Given the description of an element on the screen output the (x, y) to click on. 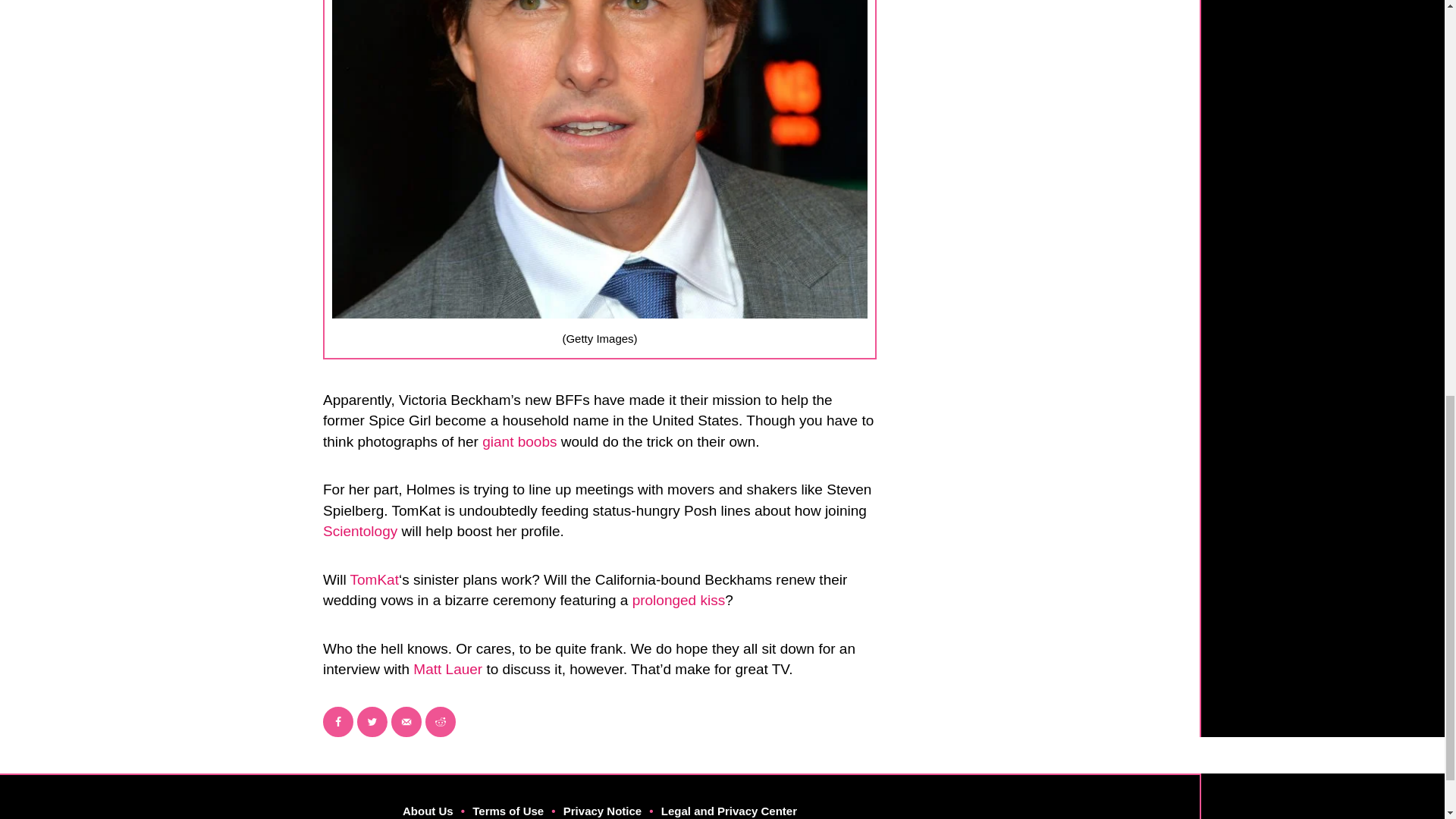
Share on Reddit (440, 721)
Share on Twitter (371, 721)
Send over email (406, 721)
Share on Facebook (338, 721)
